Given the description of an element on the screen output the (x, y) to click on. 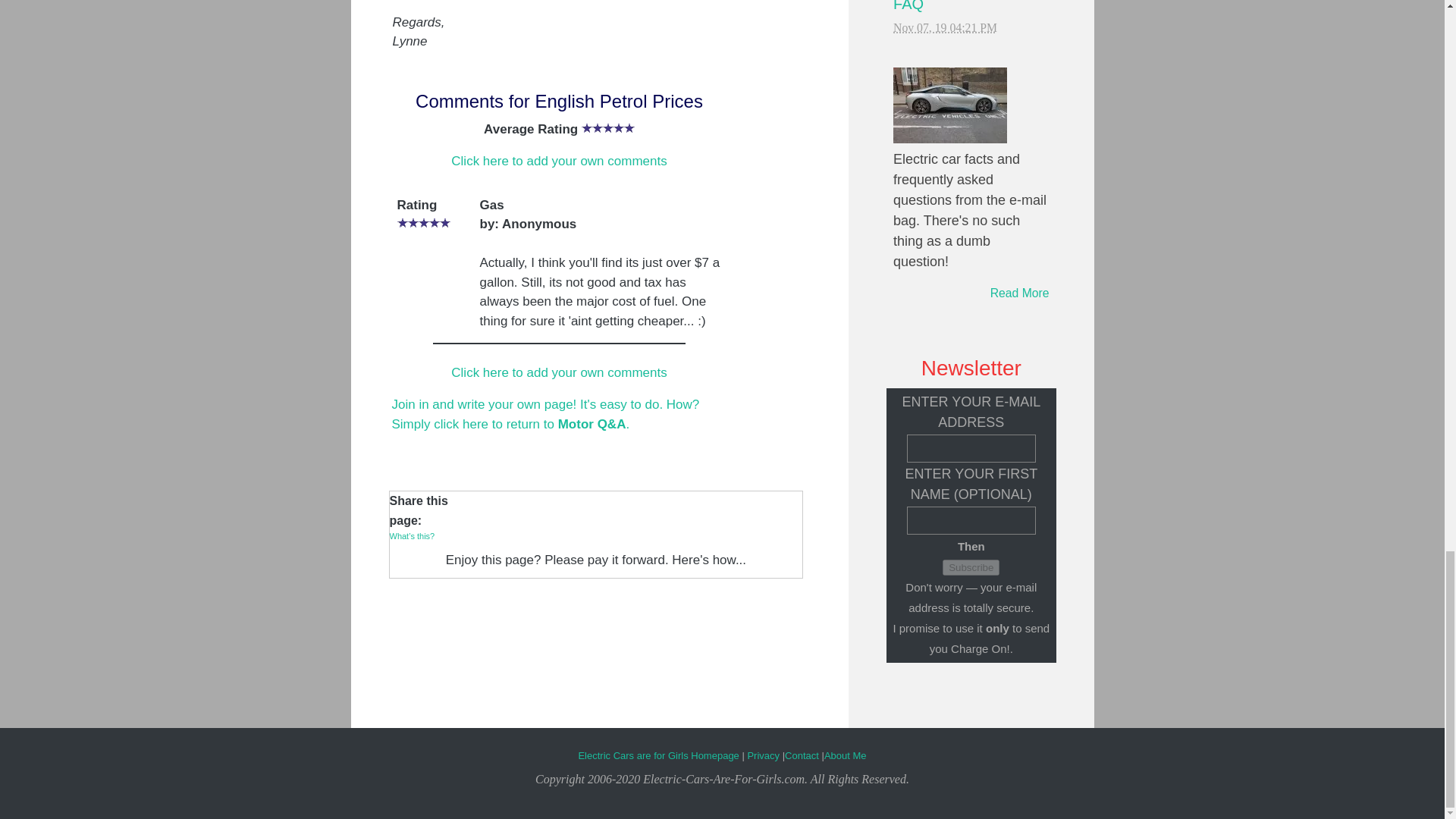
Subscribe (970, 567)
Click here to add your own comments (558, 160)
2019-11-07T16:21:31-0500 (945, 27)
Click here to add your own comments (558, 372)
